Given the description of an element on the screen output the (x, y) to click on. 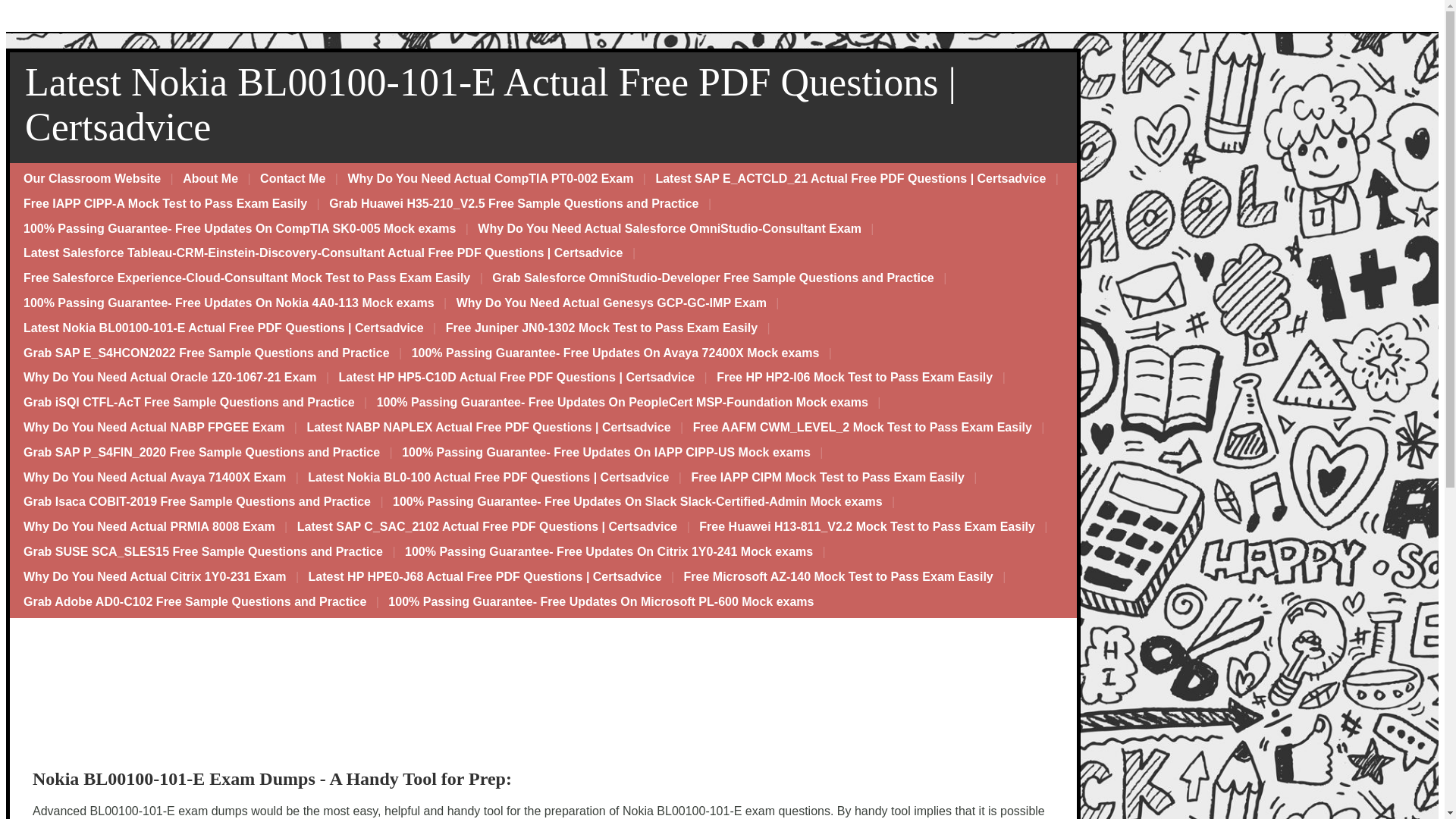
Free Juniper JN0-1302 Mock Test to Pass Exam Easily (600, 328)
Grab iSQI CTFL-AcT Free Sample Questions and Practice (189, 402)
Why Do You Need Actual Citrix 1Y0-231 Exam (154, 577)
Free IAPP CIPP-A Mock Test to Pass Exam Easily (165, 204)
Why Do You Need Actual CompTIA PT0-002 Exam (489, 179)
Why Do You Need Actual Genesys GCP-GC-IMP Exam (611, 303)
Why Do You Need Actual PRMIA 8008 Exam (149, 527)
Free IAPP CIPM Mock Test to Pass Exam Easily (826, 478)
Why Do You Need Actual Salesforce OmniStudio-Consultant Exam (669, 229)
Grab Isaca COBIT-2019 Free Sample Questions and Practice (197, 502)
Our Classroom Website (92, 179)
Advertisement (95, 703)
Free HP HP2-I06 Mock Test to Pass Exam Easily (854, 377)
